Given the description of an element on the screen output the (x, y) to click on. 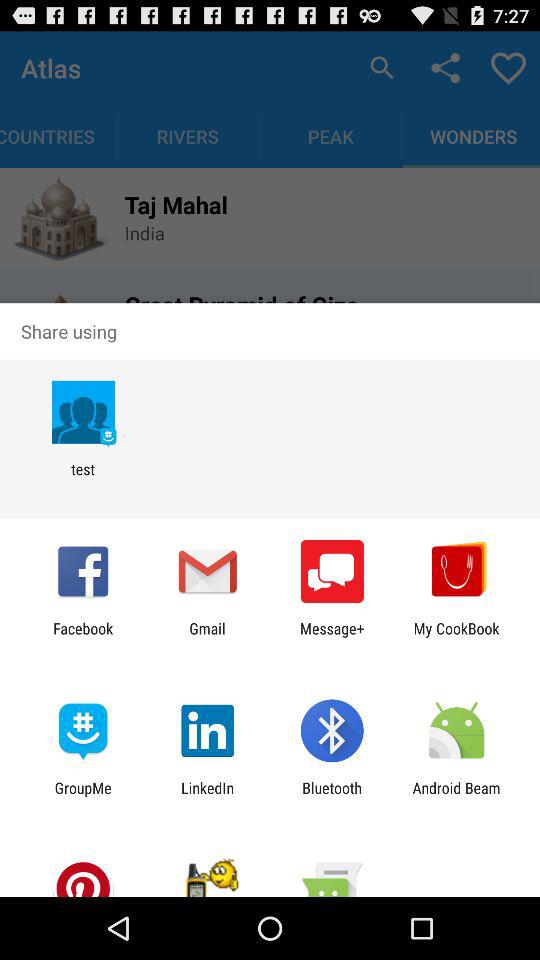
press the test (82, 478)
